Given the description of an element on the screen output the (x, y) to click on. 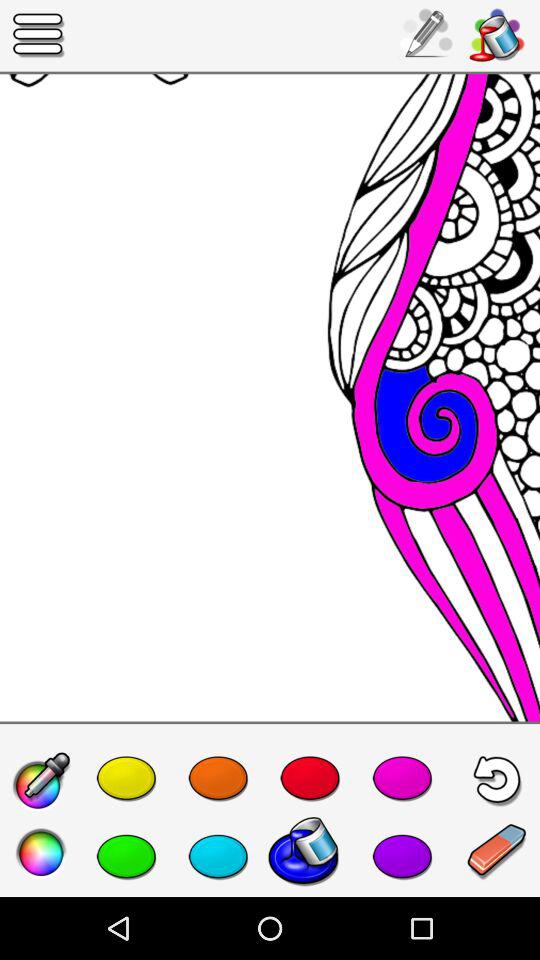
turn off the icon at the top left corner (39, 35)
